Given the description of an element on the screen output the (x, y) to click on. 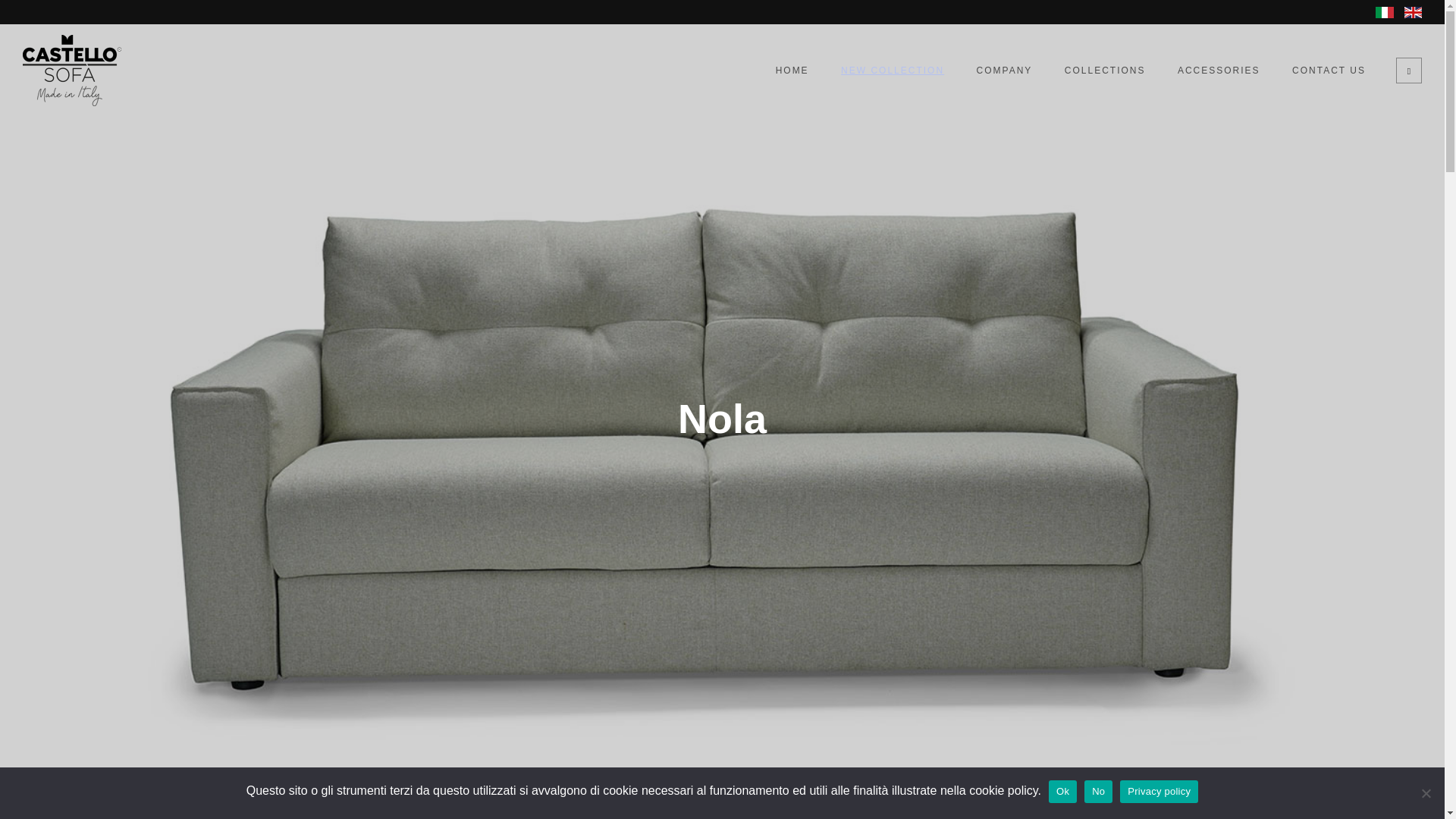
COMPANY (1004, 70)
NEW COLLECTION (892, 70)
No (1098, 790)
COLLECTIONS (1104, 70)
CONTACT US (1329, 70)
HOME (792, 70)
ACCESSORIES (1218, 70)
Privacy policy (1158, 790)
Ok (1062, 790)
